Given the description of an element on the screen output the (x, y) to click on. 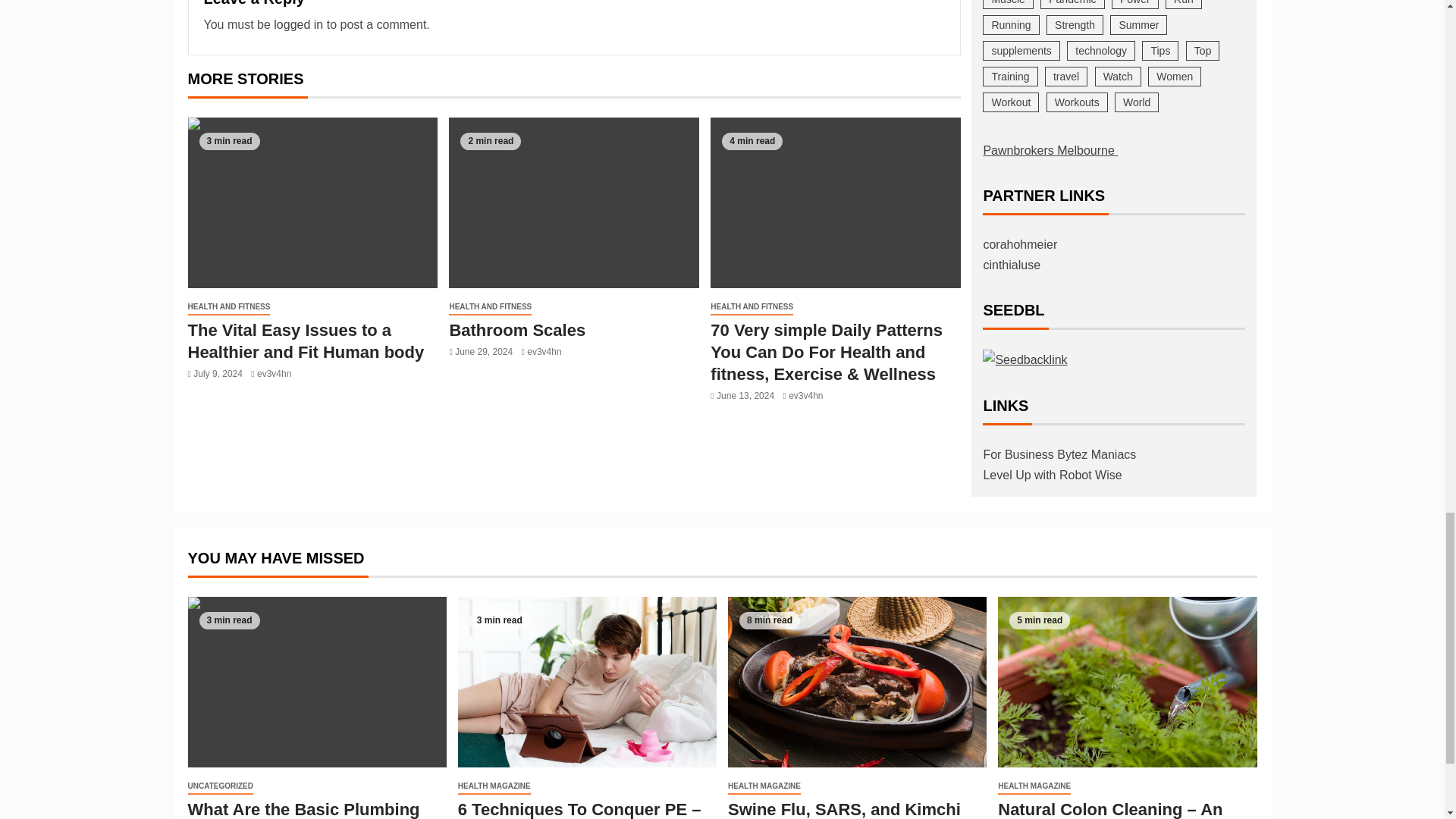
What Are the Basic Plumbing Tips for Every Homeowner? (316, 682)
HEALTH AND FITNESS (228, 307)
The Vital Easy Issues to a Healthier and Fit Human body (306, 341)
Swine Flu, SARS, and Kimchi (857, 682)
Bathroom Scales (516, 330)
The Vital Easy Issues to a Healthier and Fit Human body (312, 202)
Seedbacklink (1024, 359)
ev3v4hn (274, 373)
logged in (298, 24)
HEALTH AND FITNESS (489, 307)
